Given the description of an element on the screen output the (x, y) to click on. 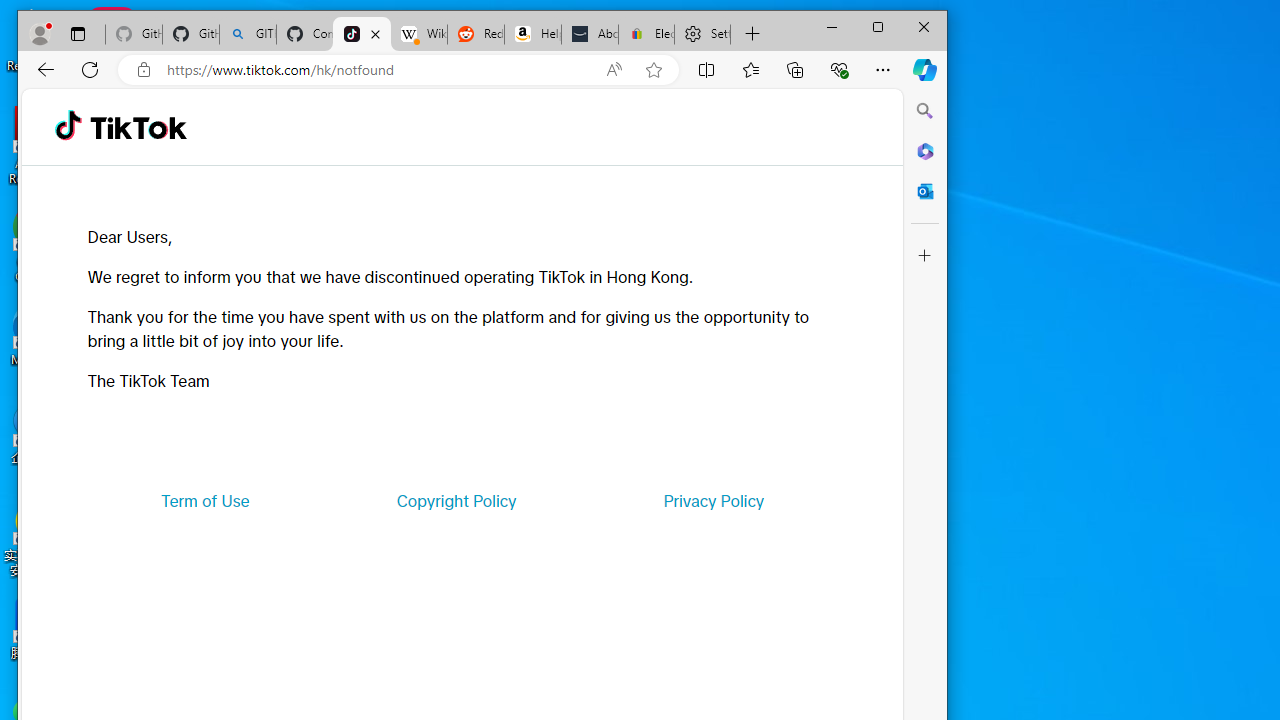
GITHUB - Search (248, 34)
Wikipedia, the free encyclopedia (418, 34)
About Amazon (589, 34)
